Given the description of an element on the screen output the (x, y) to click on. 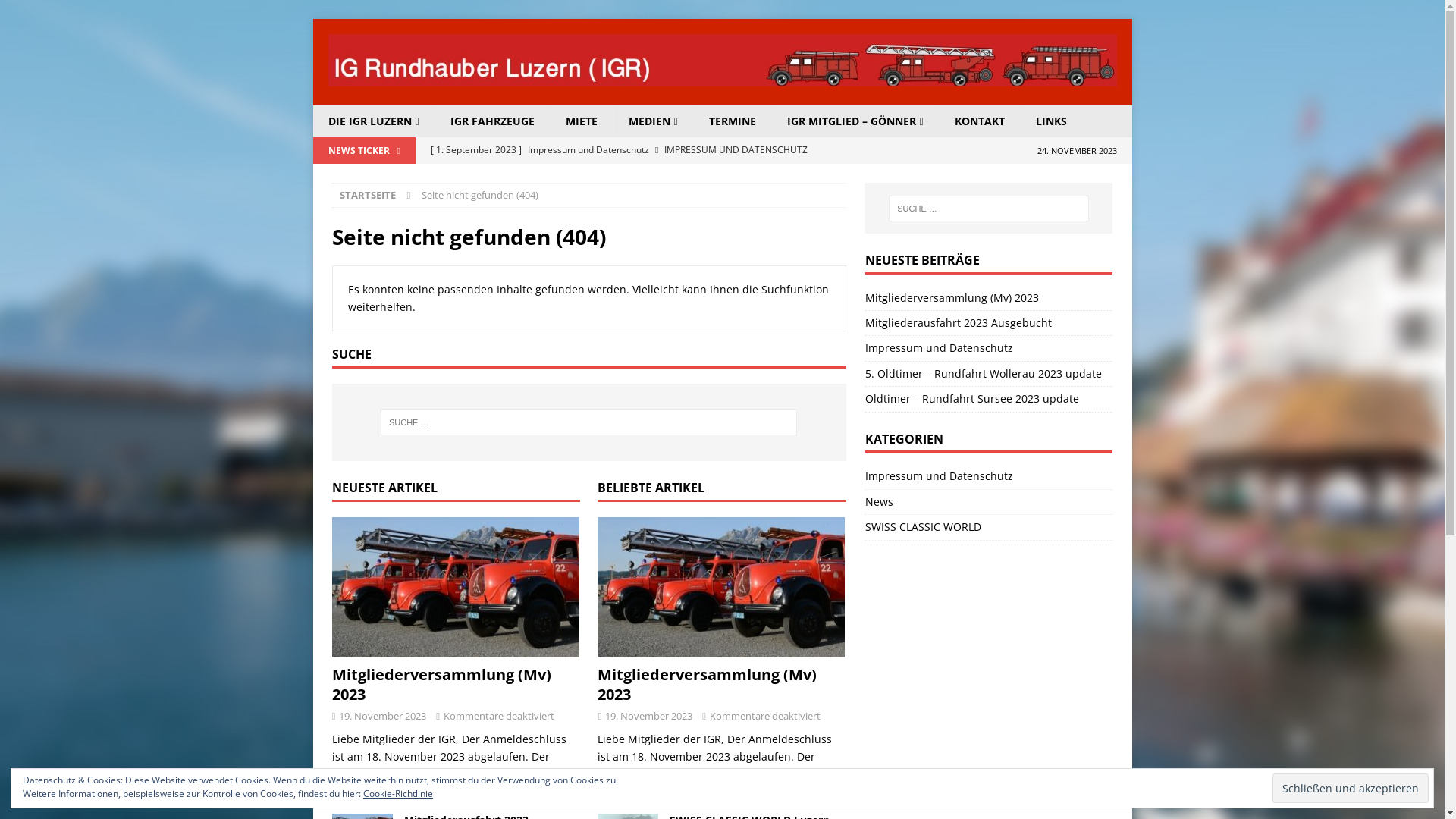
IGR FAHRZEUGE Element type: text (491, 121)
STARTSEITE Element type: text (367, 194)
Suche Element type: text (56, 11)
SWISS CLASSIC WORLD Element type: text (988, 526)
DIE IGR LUZERN Element type: text (372, 121)
TERMINE Element type: text (732, 121)
19. November 2023 Element type: text (648, 715)
MIETE Element type: text (580, 121)
News Element type: text (988, 501)
Mitgliederversammlung (Mv) 2023 Element type: text (706, 684)
KONTAKT Element type: text (978, 121)
Mitgliederversammlung (Mv) 2023 Element type: text (441, 684)
MEDIEN Element type: text (652, 121)
Impressum und Datenschutz Element type: text (939, 347)
Mitgliederausfahrt 2023 Ausgebucht Element type: text (958, 322)
Mitgliederversammlung (Mv) 2023 Element type: hover (721, 587)
LINKS Element type: text (1050, 121)
Mitgliederversammlung (Mv) 2023 Element type: text (951, 297)
19. November 2023 Element type: text (382, 715)
Cookie-Richtlinie Element type: text (398, 793)
Mitgliederversammlung (Mv) 2023 Element type: hover (456, 587)
Impressum und Datenschutz Element type: text (988, 477)
